Given the description of an element on the screen output the (x, y) to click on. 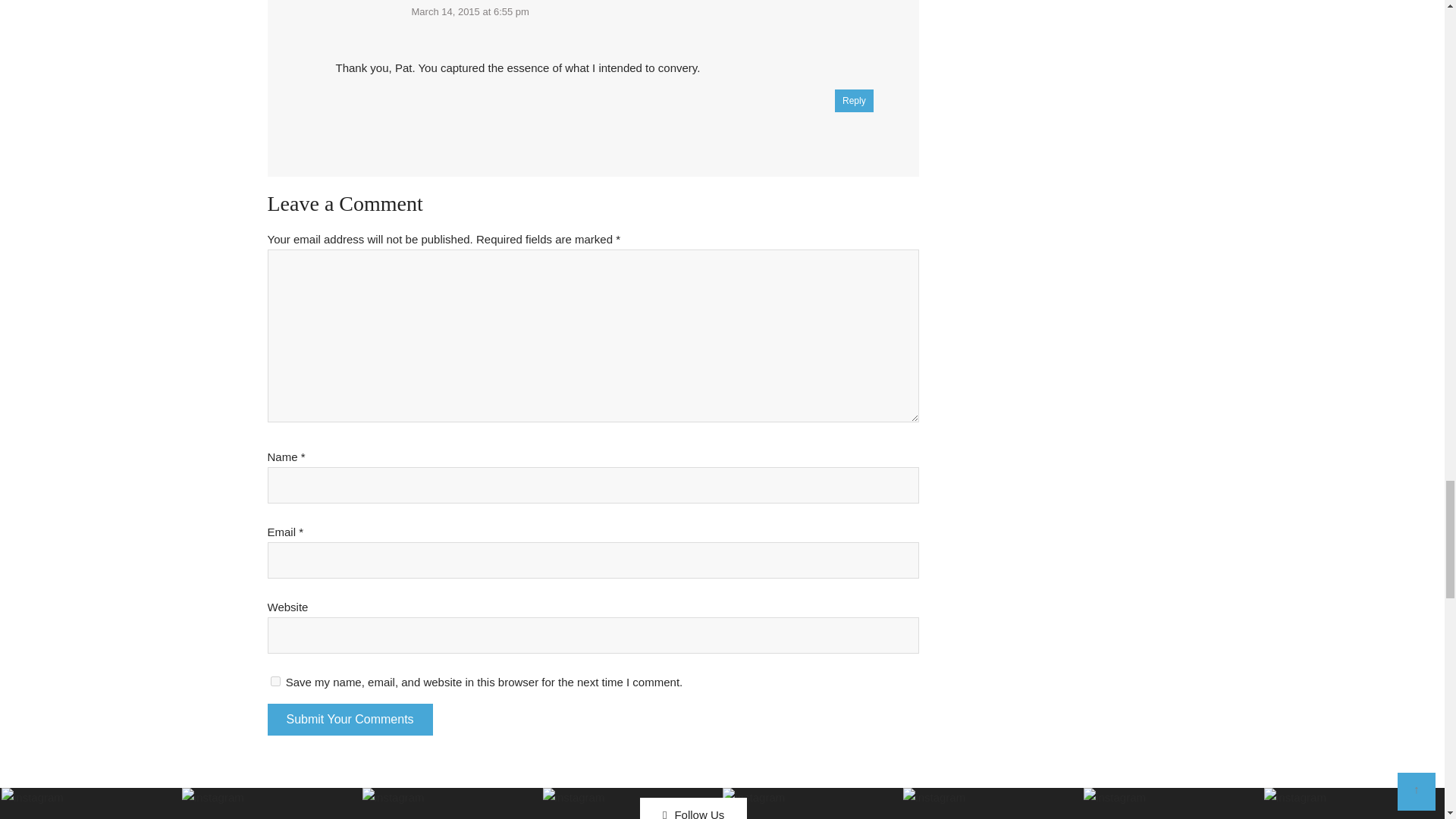
March 14, 2015 at 6:55 pm (469, 11)
Reply (853, 100)
yes (274, 681)
Submit Your Comments (349, 719)
